Given the description of an element on the screen output the (x, y) to click on. 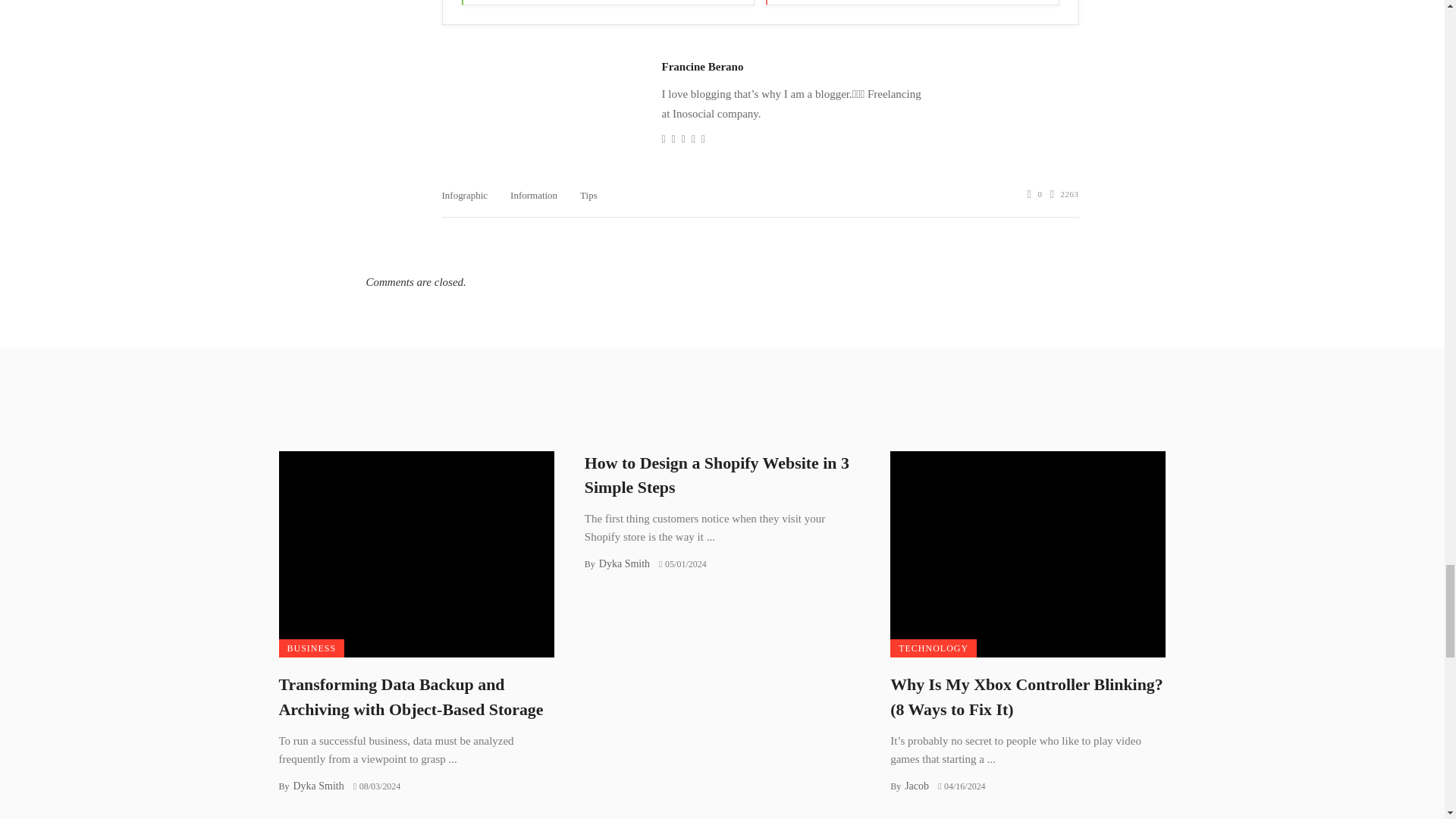
Yes (607, 2)
No (912, 2)
Infographic (464, 194)
Francine Berano (701, 66)
